Given the description of an element on the screen output the (x, y) to click on. 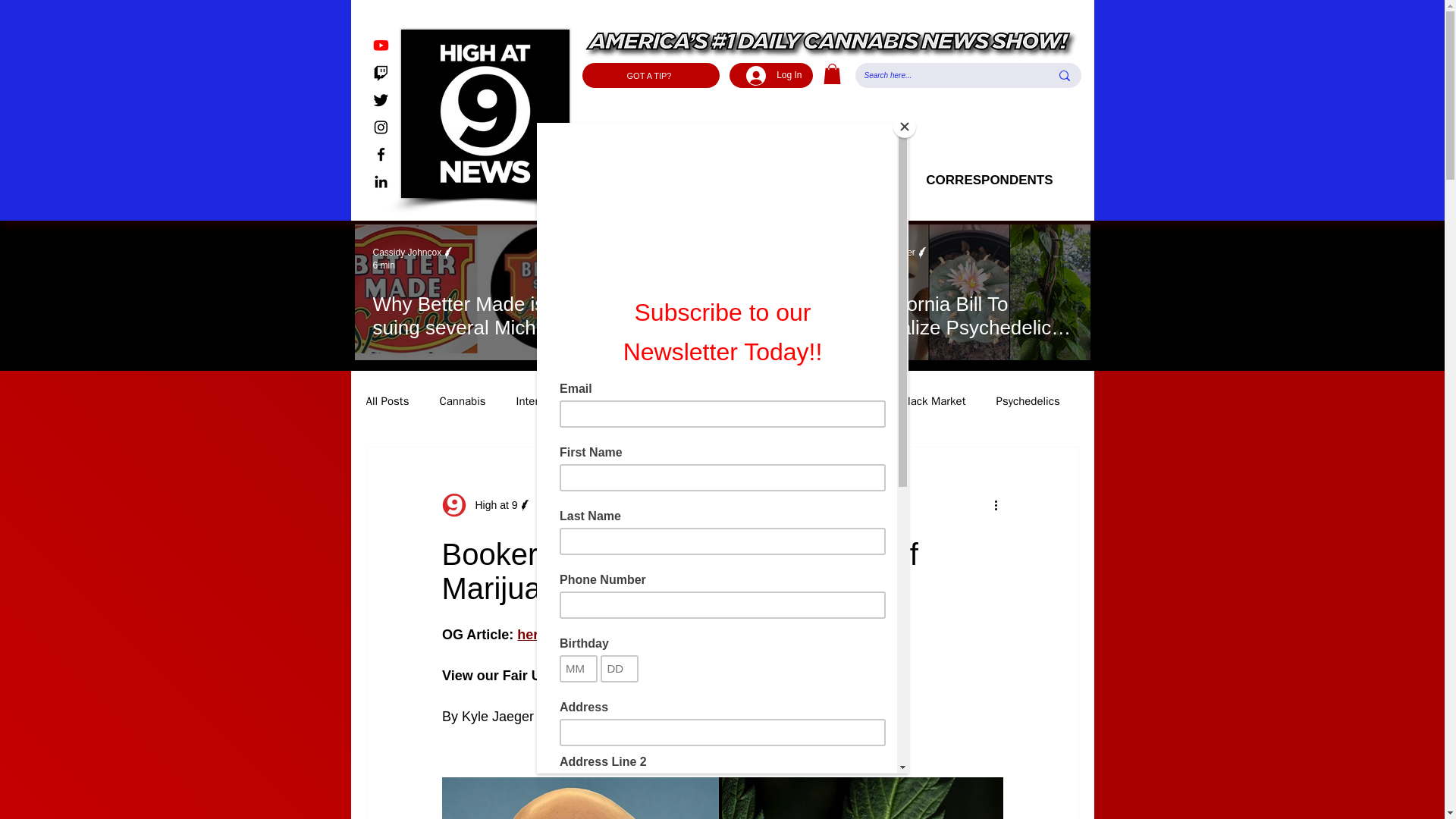
Kyle Jaeger (898, 252)
Cassidy Johncox (414, 252)
Cassidy Johncox (407, 252)
High at 9 (490, 505)
CBD (691, 400)
ABOUT (719, 180)
Kyle Jaeger (891, 252)
Lounges (629, 400)
3 min (631, 265)
Banking (850, 400)
Jul 5, 2023 (572, 504)
Kyle Jaeger (644, 252)
HOME (628, 180)
